Given the description of an element on the screen output the (x, y) to click on. 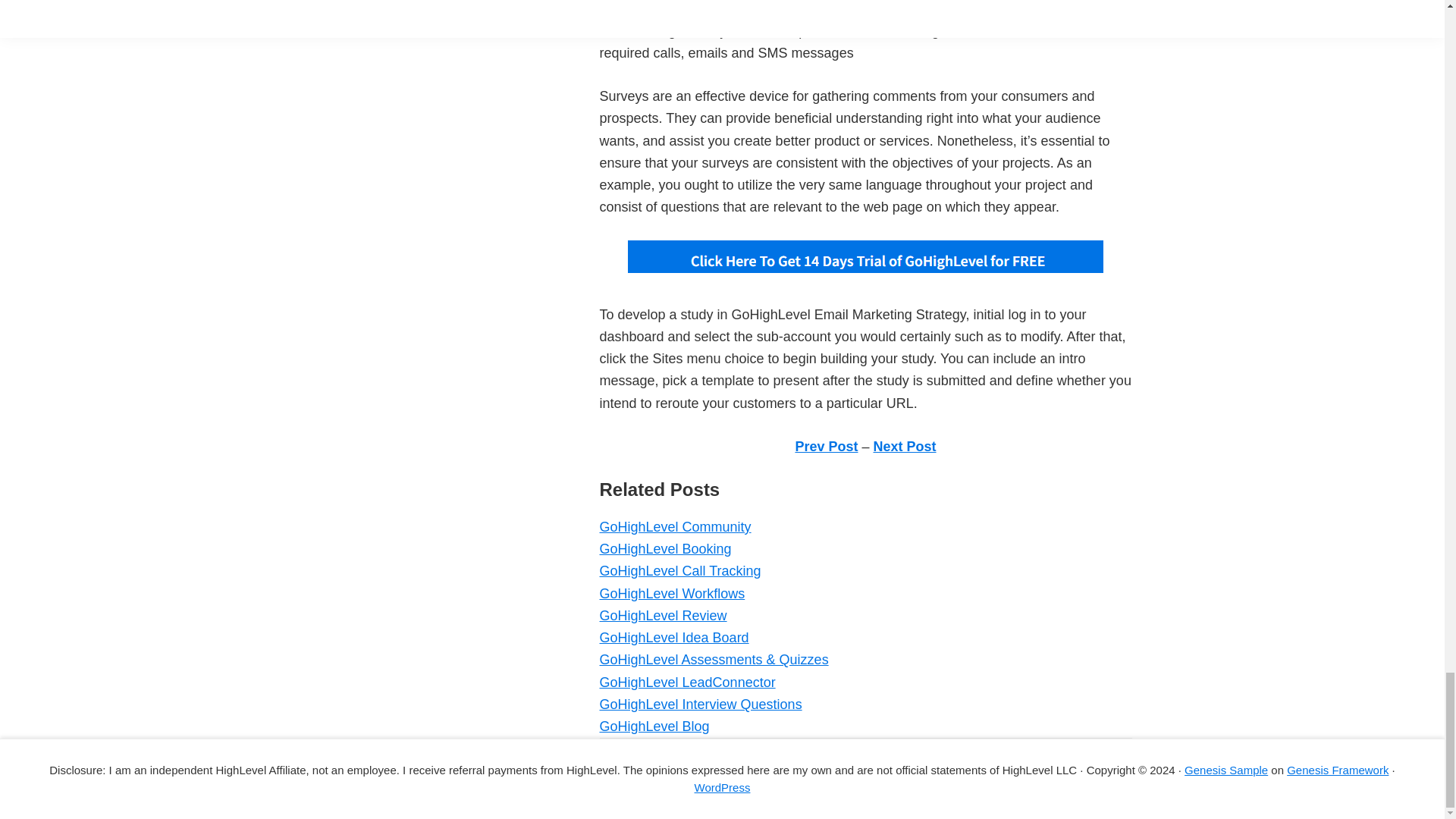
GoHighLevel Community (674, 526)
GoHighLevel Workflows (671, 593)
GoHighLevel Blog (653, 726)
Prev Post (825, 446)
GoHighLevel Interview Questions (700, 703)
GoHighLevel Booking (664, 548)
GoHighLevel Idea Board (673, 637)
GoHighLevel Review (662, 615)
GoHighLevel Blog (653, 726)
GoHighLevel Idea Board (673, 637)
